Given the description of an element on the screen output the (x, y) to click on. 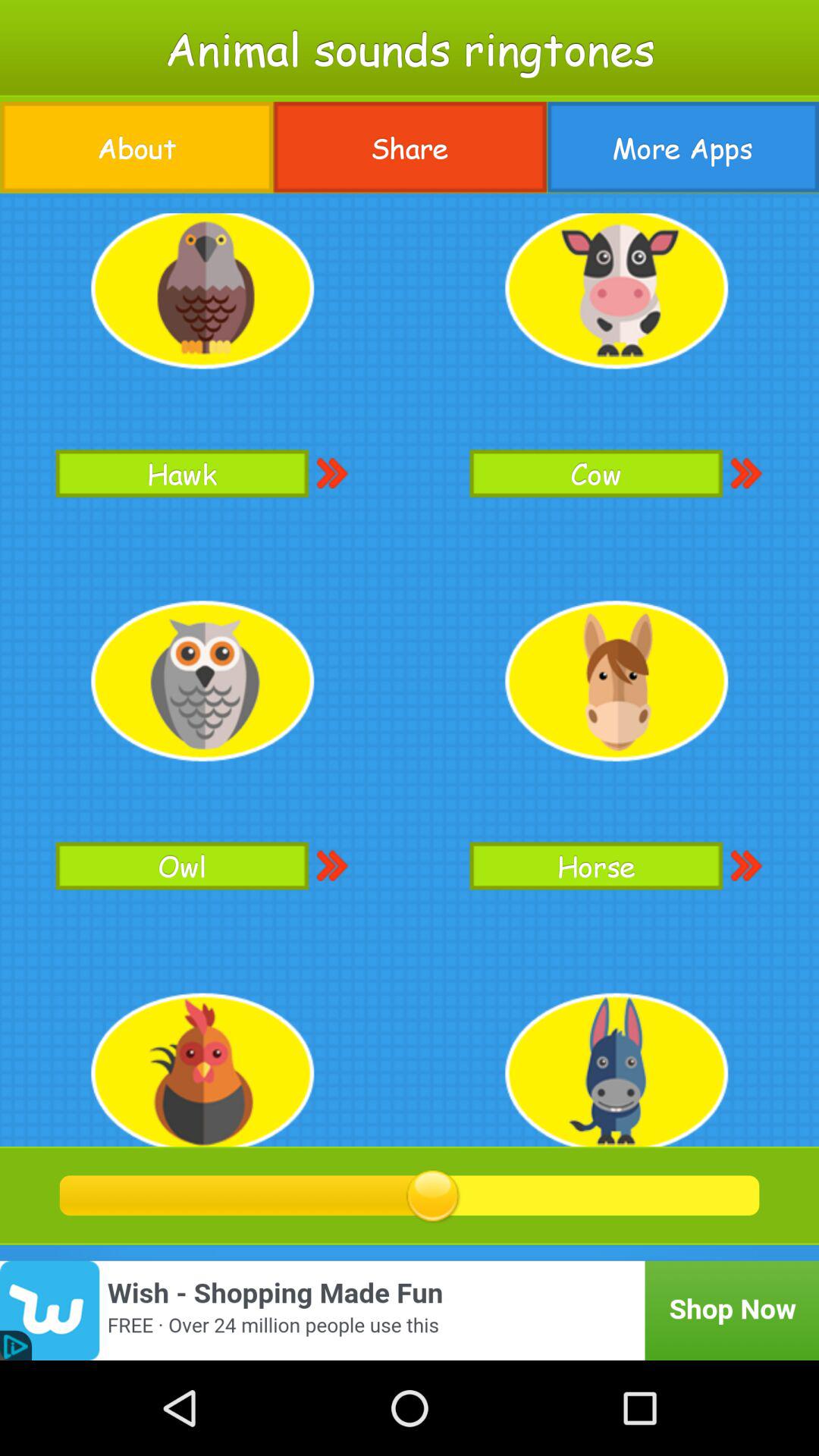
flip to more apps icon (682, 147)
